Given the description of an element on the screen output the (x, y) to click on. 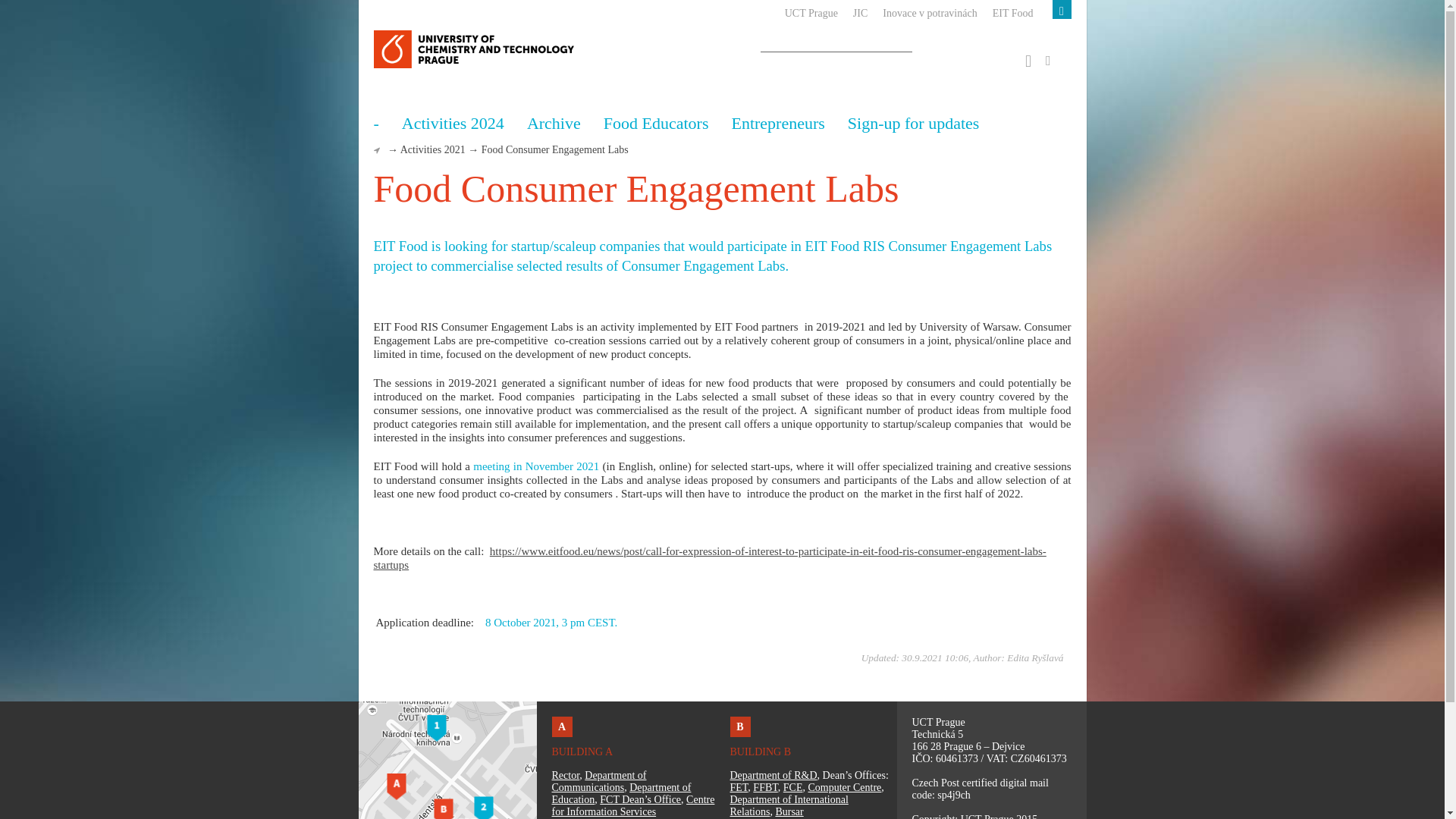
EIT Food (1004, 13)
Food Hub LinkedIn profile (1021, 62)
Food Educators (656, 123)
Archive (553, 123)
Rector (565, 775)
UCT Prague (804, 13)
JIC (852, 13)
Entrepreneurs (777, 123)
Activities 2024 (452, 123)
Sign-up for updates (913, 123)
